Given the description of an element on the screen output the (x, y) to click on. 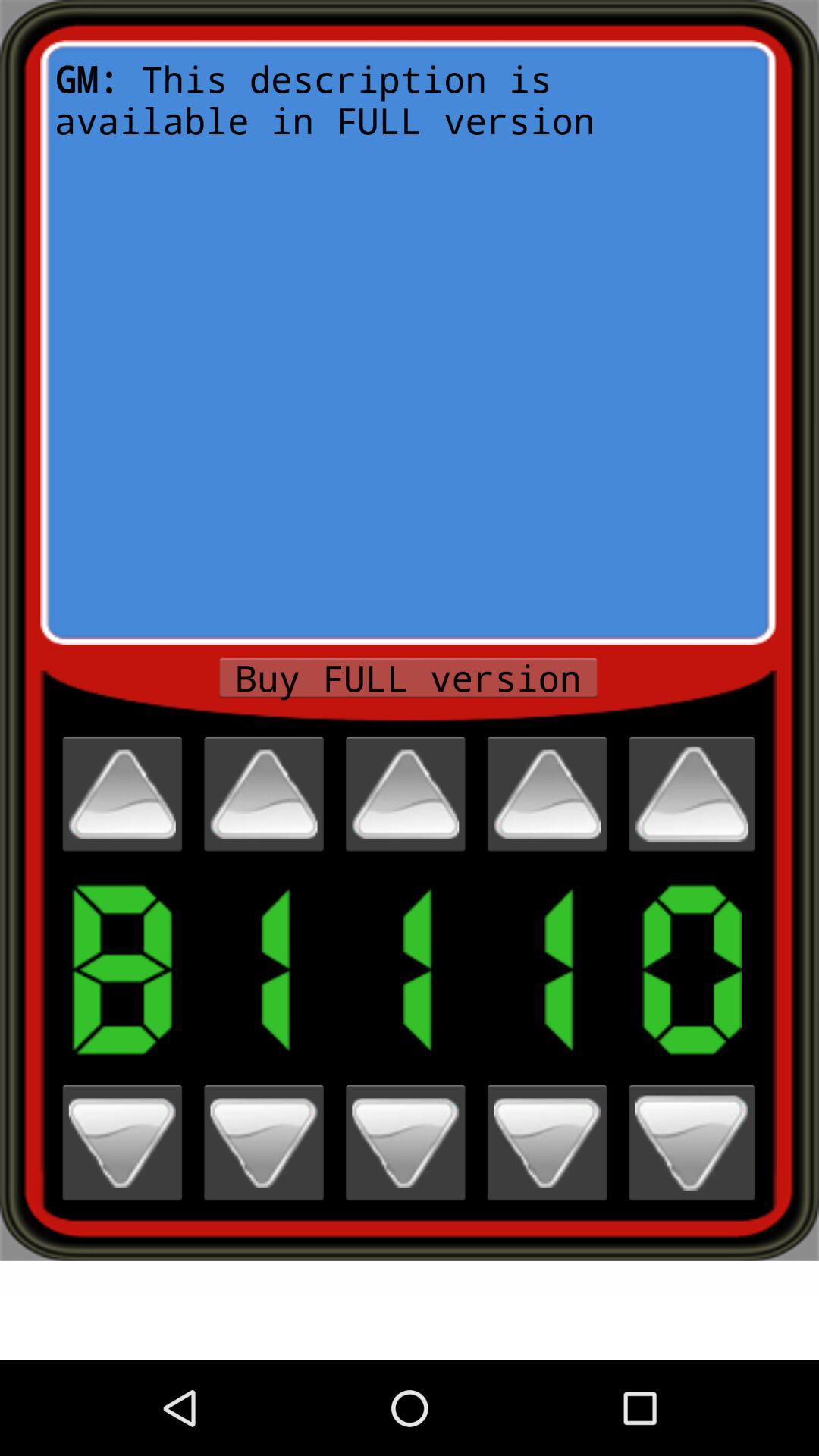
down the number (263, 1142)
